Given the description of an element on the screen output the (x, y) to click on. 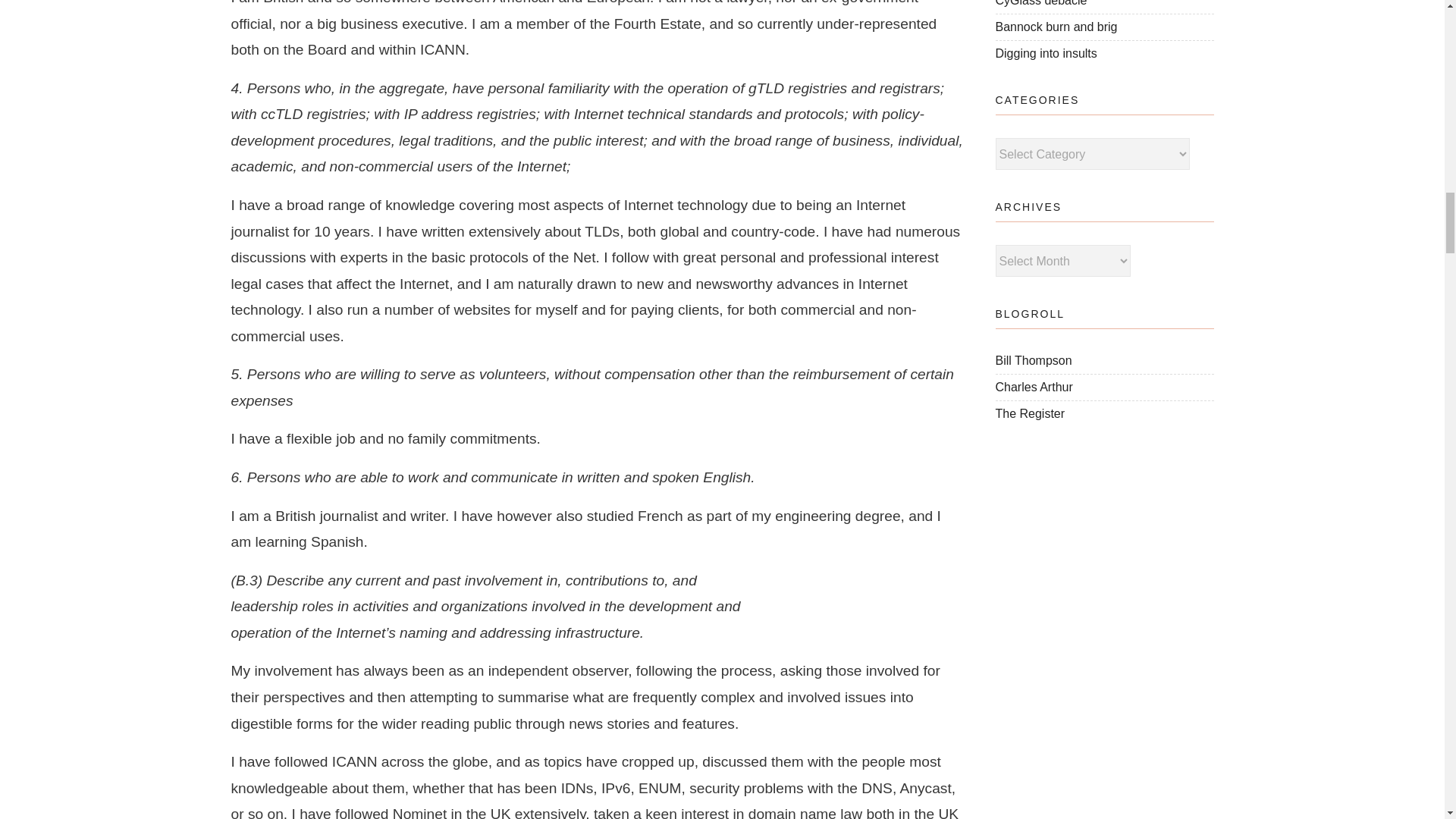
Great technology journo (1032, 359)
IT news (1029, 413)
